Given the description of an element on the screen output the (x, y) to click on. 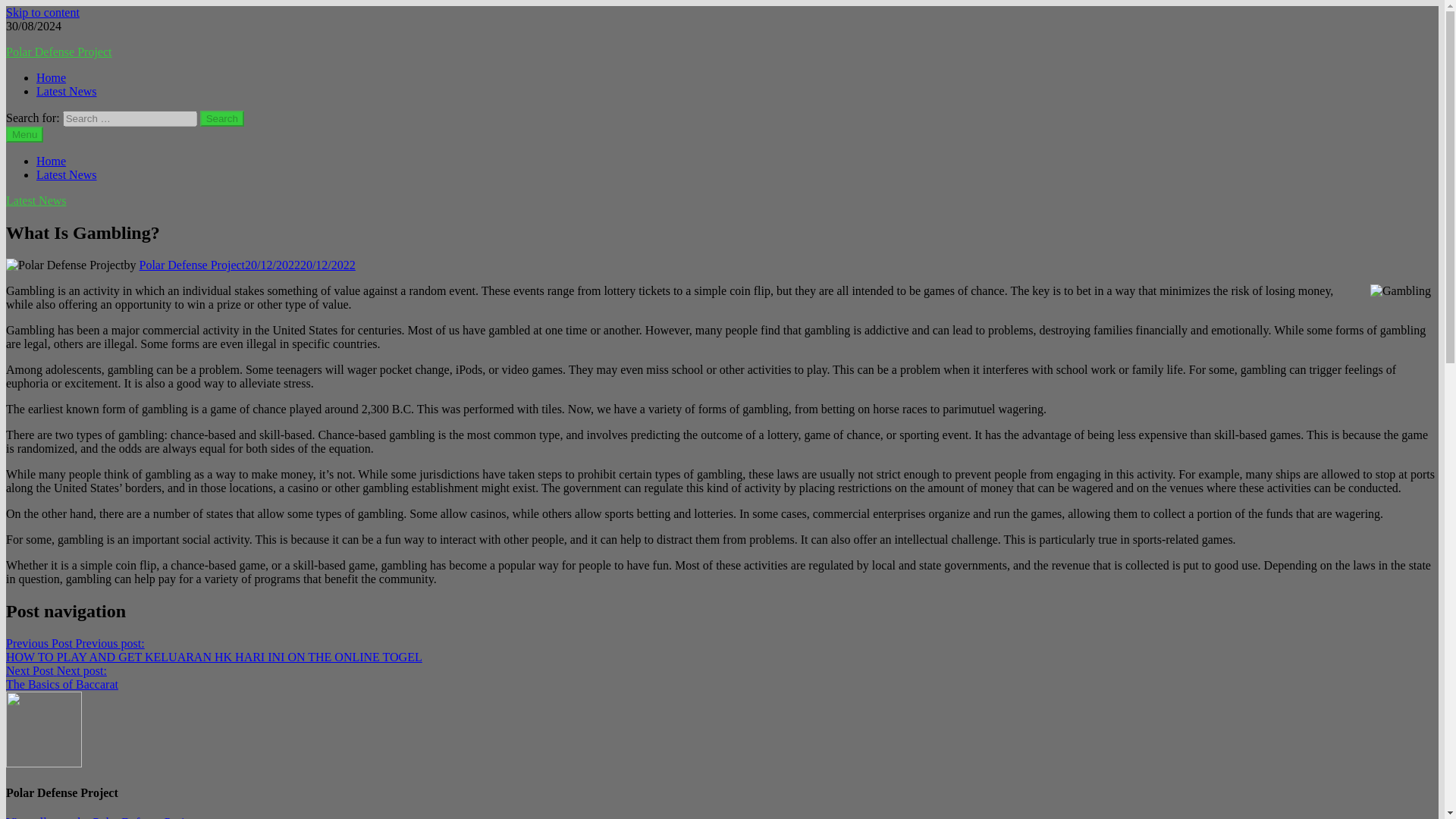
Home (50, 77)
Menu (24, 134)
Latest News (35, 200)
Latest News (66, 174)
Polar Defense Project (109, 817)
Search (222, 118)
Latest News (66, 91)
Search (222, 118)
Polar Defense Project (58, 51)
